Given the description of an element on the screen output the (x, y) to click on. 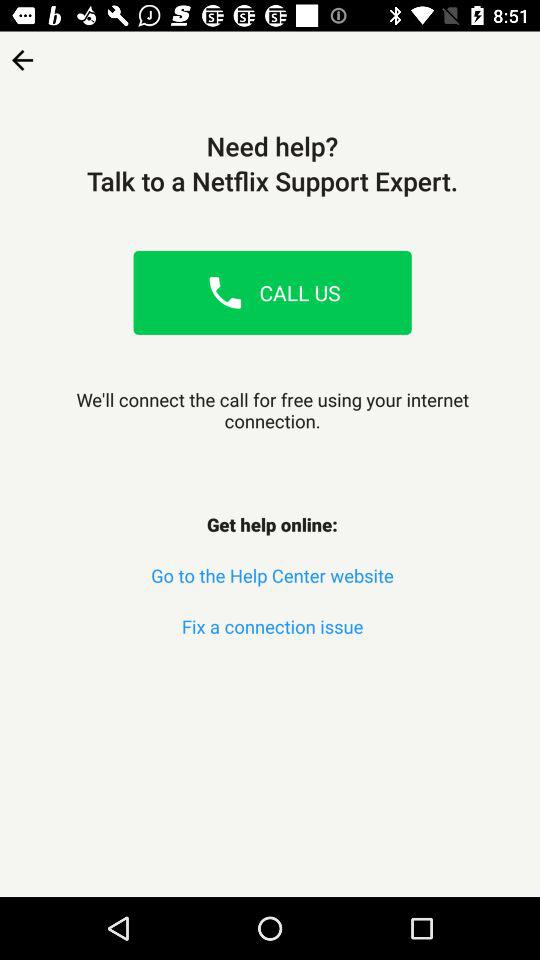
to call someone (225, 292)
